Given the description of an element on the screen output the (x, y) to click on. 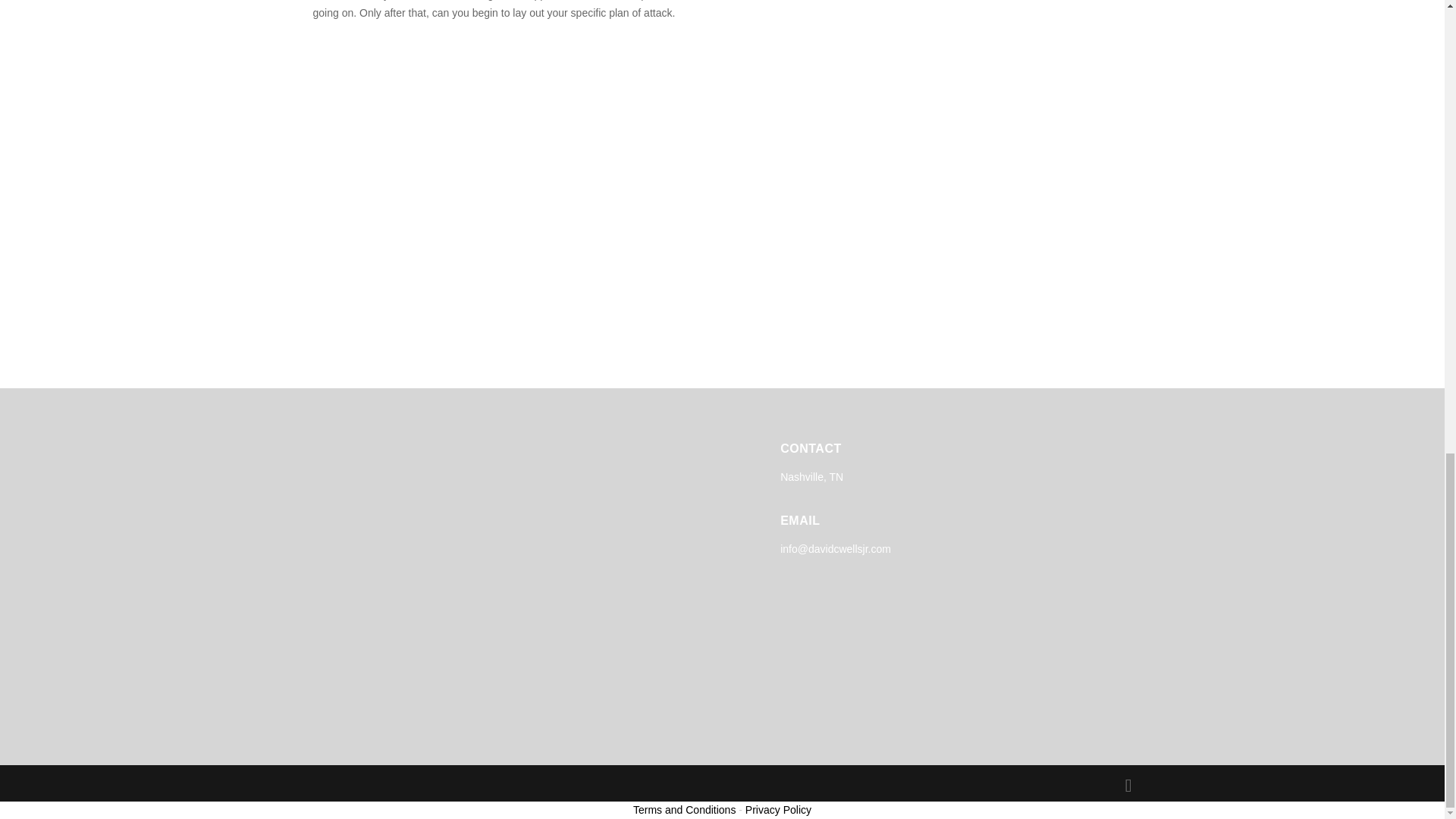
Terms and Conditions (684, 809)
Privacy Policy (777, 809)
